Given the description of an element on the screen output the (x, y) to click on. 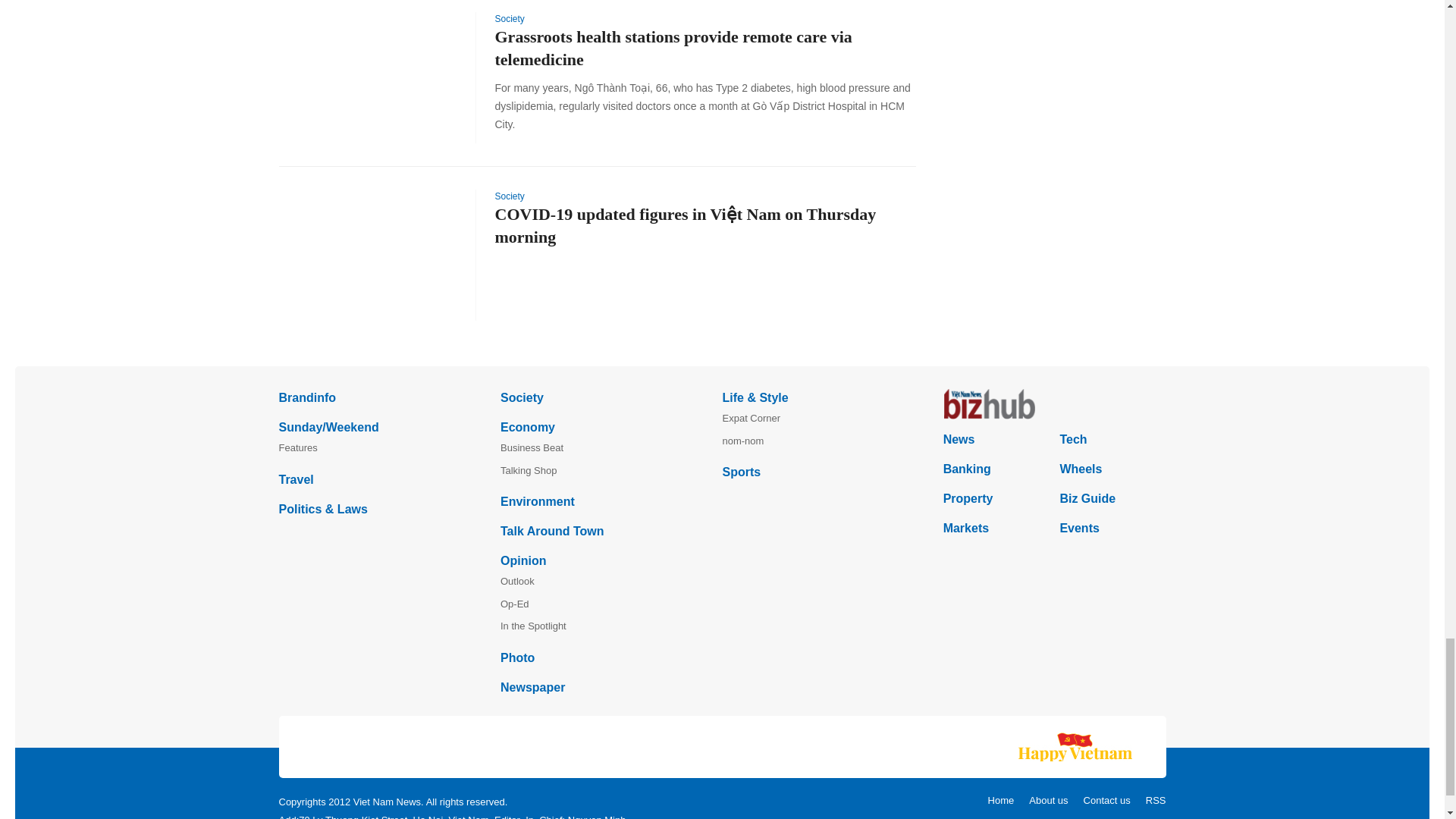
bizhub (1054, 404)
